Given the description of an element on the screen output the (x, y) to click on. 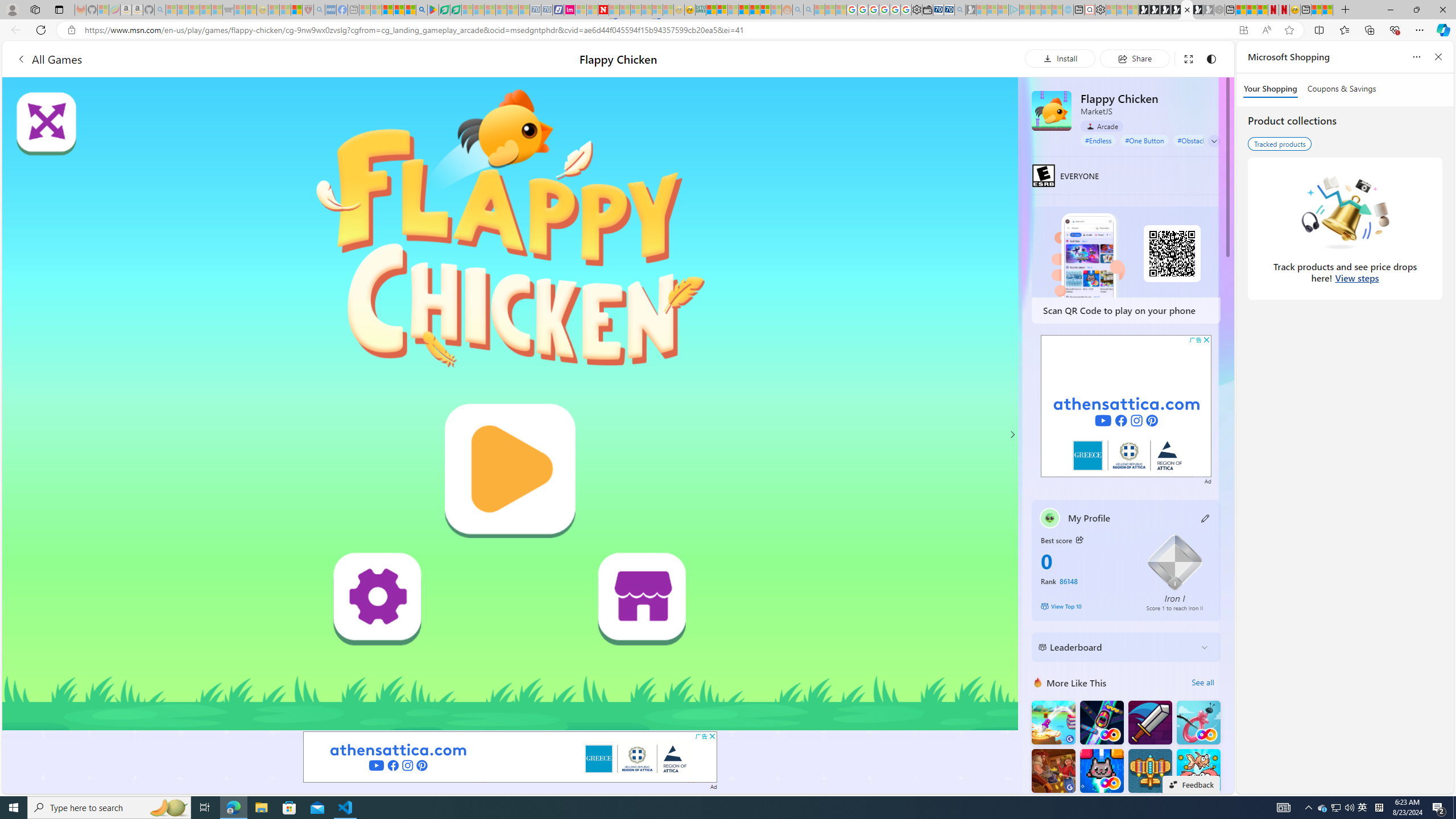
Dungeon Master Knight (1149, 722)
""'s avatar (1049, 518)
Bumper Car FRVR (1101, 722)
Class: expand-arrow neutral (1214, 141)
Advertisement (1126, 405)
#One Button (1145, 140)
